Given the description of an element on the screen output the (x, y) to click on. 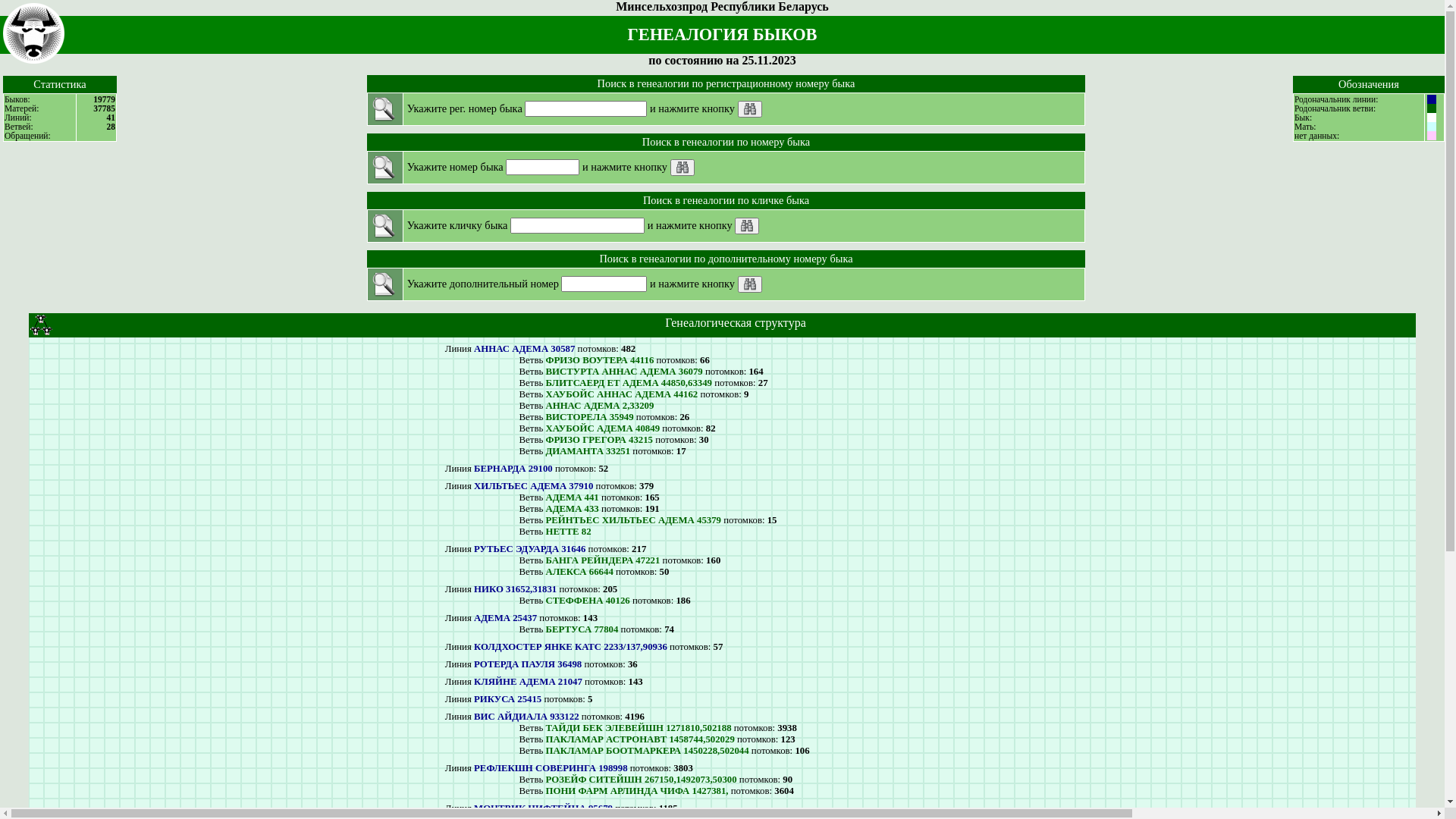
KLI Element type: text (746, 225)
REG Element type: text (749, 108)
DOP Element type: text (749, 284)
KOD Element type: text (682, 167)
